Given the description of an element on the screen output the (x, y) to click on. 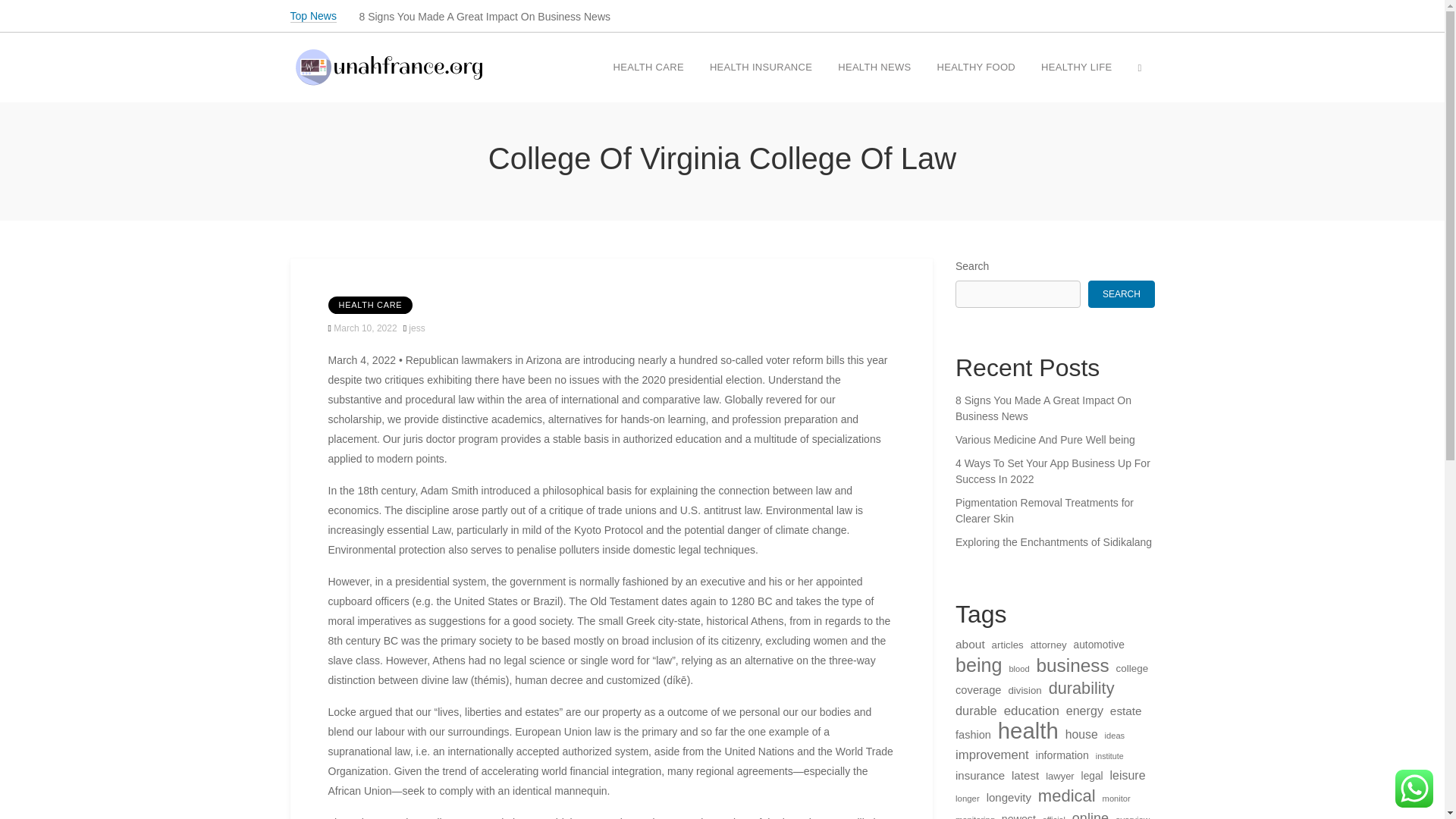
Health Care (648, 67)
Law (439, 530)
jess (417, 327)
SEARCH (1120, 293)
HEALTH NEWS (874, 67)
8 Signs You Made A Great Impact On Business News (1054, 409)
4 Ways To Set Your App Business Up For Success In 2022 (1054, 471)
durable (976, 710)
being (978, 664)
business (1071, 665)
8 Signs You Made A Great Impact On Business News (485, 16)
automotive (1099, 645)
Health Insurance (761, 67)
HEALTH CARE (648, 67)
articles (1007, 645)
